Given the description of an element on the screen output the (x, y) to click on. 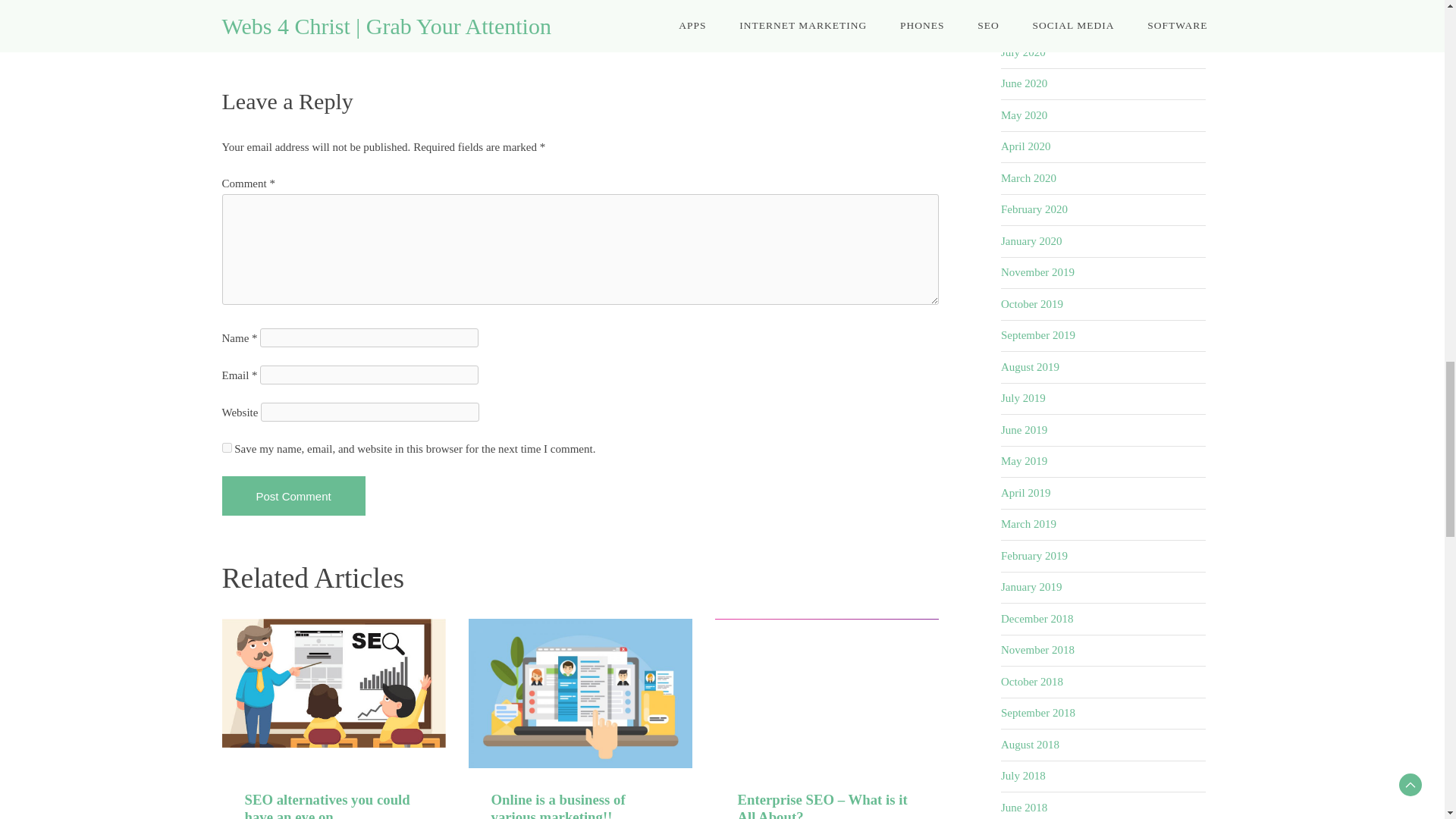
Ease spying with mobile spy software (837, 32)
Post Comment (293, 495)
yes (226, 447)
Online is a business of various marketing!! (559, 805)
Hack all information of others by using the spy tool (353, 32)
SEO alternatives you could have an eye on (326, 805)
Post Comment (293, 495)
